Given the description of an element on the screen output the (x, y) to click on. 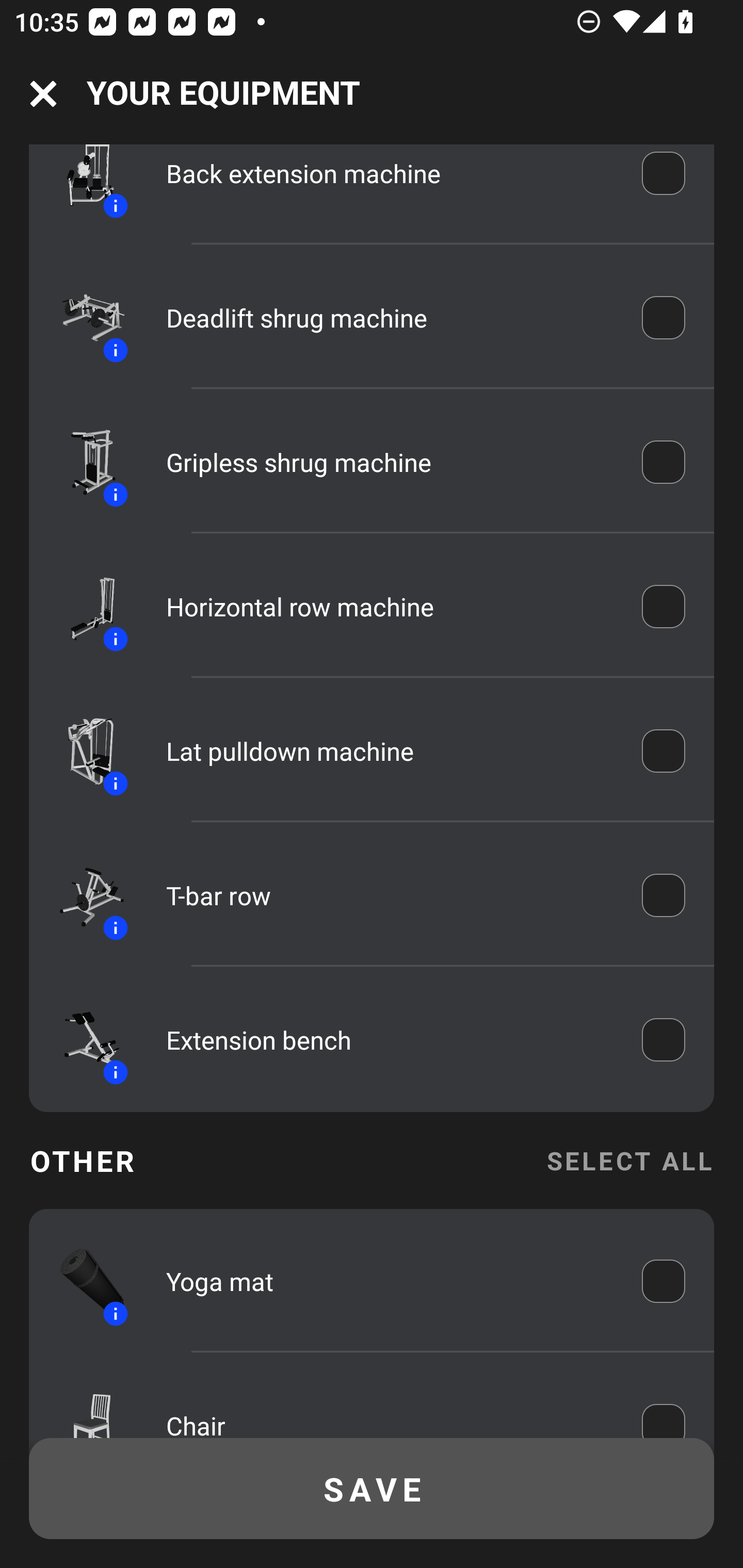
Navigation icon (43, 93)
Equipment icon Information icon (82, 185)
Back extension machine (389, 180)
Equipment icon Information icon (82, 317)
Deadlift shrug machine (389, 317)
Equipment icon Information icon (82, 461)
Gripless shrug machine (389, 461)
Equipment icon Information icon (82, 605)
Horizontal row machine (389, 605)
Equipment icon Information icon (82, 750)
Lat pulldown machine (389, 750)
Equipment icon Information icon (82, 896)
T-bar row (389, 895)
Equipment icon Information icon (82, 1040)
Extension bench (389, 1040)
SELECT ALL (629, 1160)
Equipment icon Information icon (82, 1281)
Yoga mat (389, 1280)
Equipment icon (82, 1404)
Chair (389, 1409)
SAVE (371, 1488)
